Given the description of an element on the screen output the (x, y) to click on. 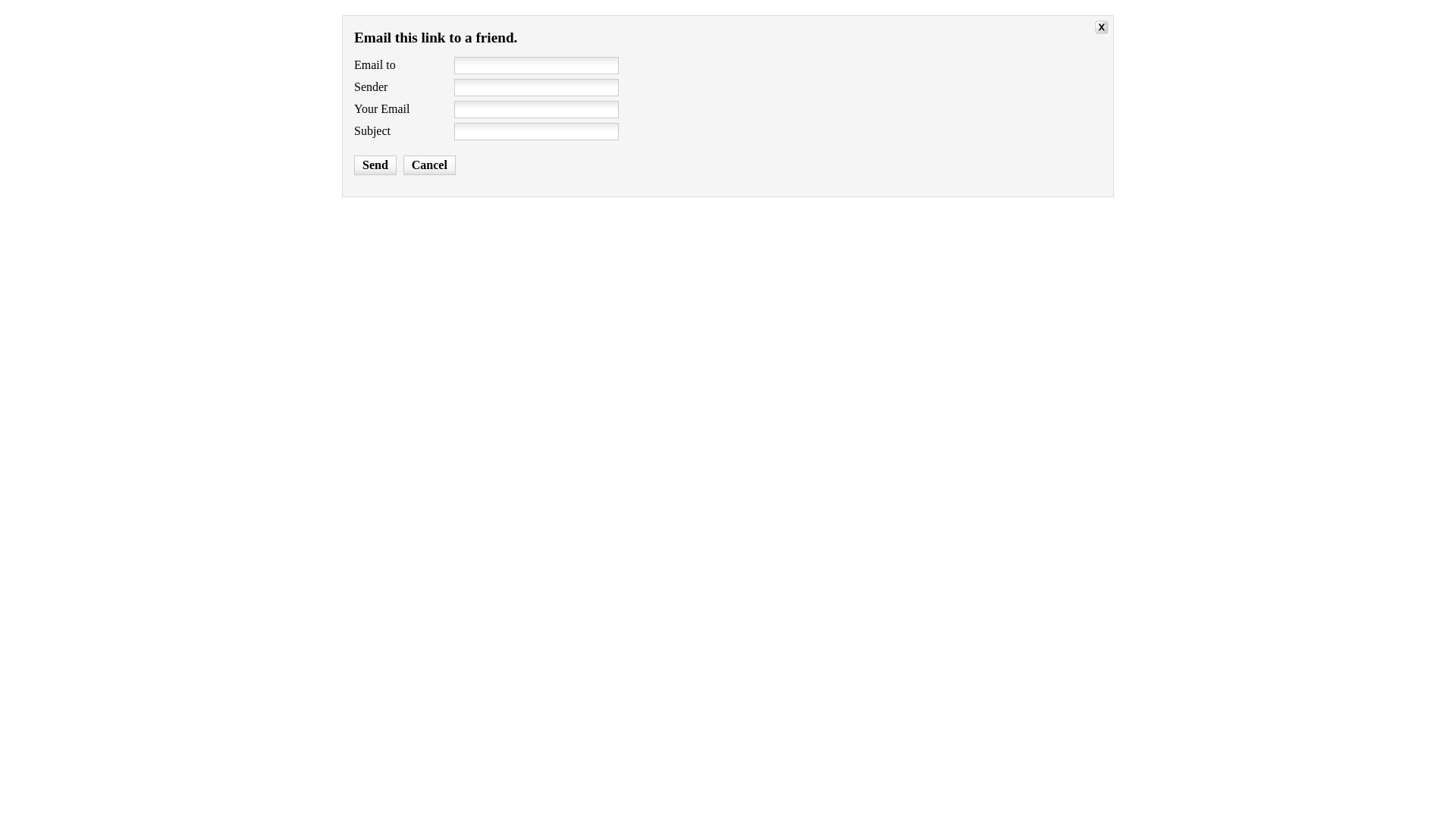
Send Element type: text (375, 165)
Close Window Element type: hover (1103, 28)
Cancel Element type: text (429, 165)
